Given the description of an element on the screen output the (x, y) to click on. 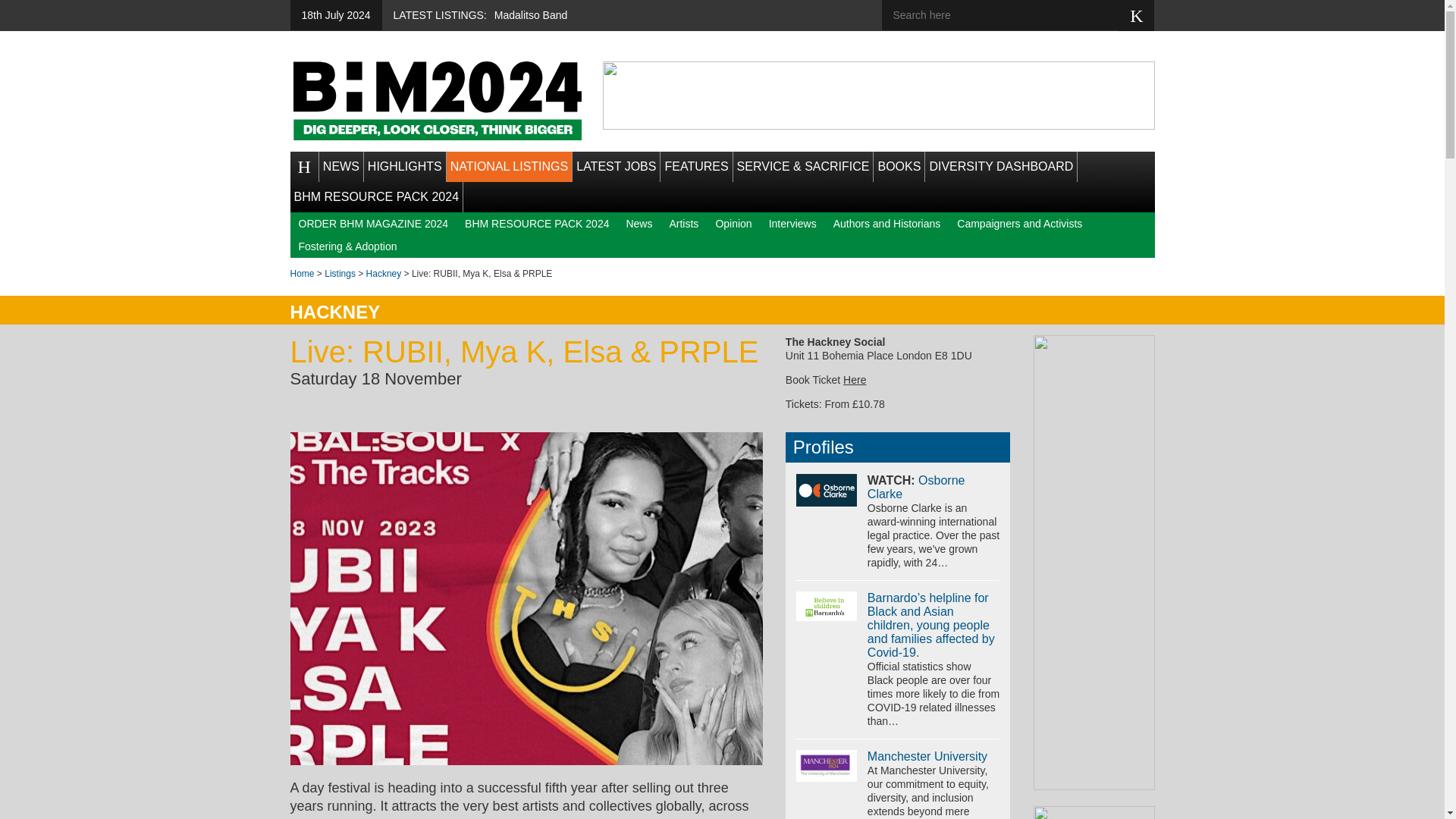
Black History Month 2024: Black History Month 2024 (437, 100)
Search here (1010, 15)
Osborne Clarke (916, 487)
Osborne Clarke (826, 490)
Manchester University (826, 766)
Madalitso Band (531, 15)
